Given the description of an element on the screen output the (x, y) to click on. 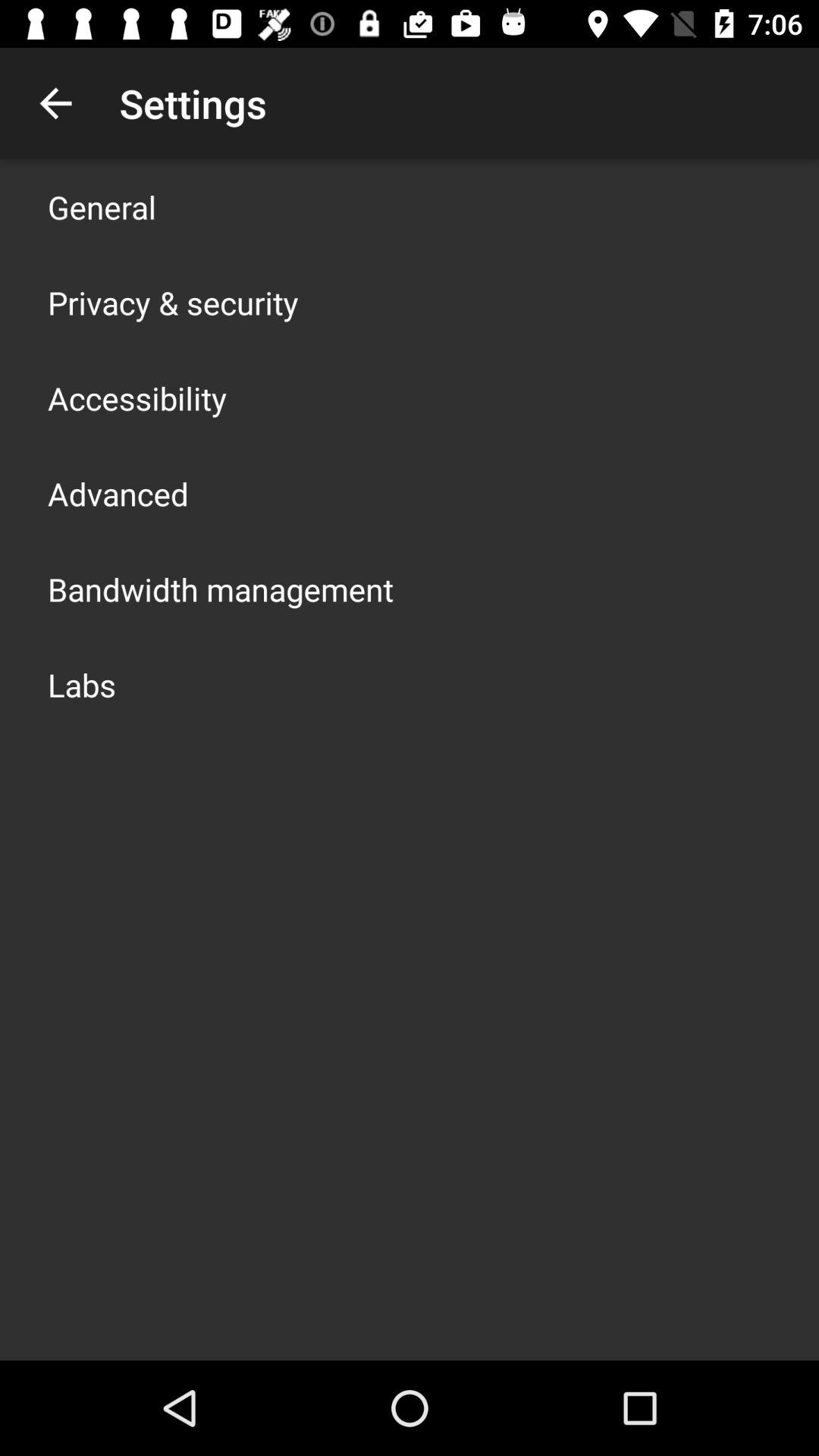
jump until bandwidth management item (220, 588)
